Given the description of an element on the screen output the (x, y) to click on. 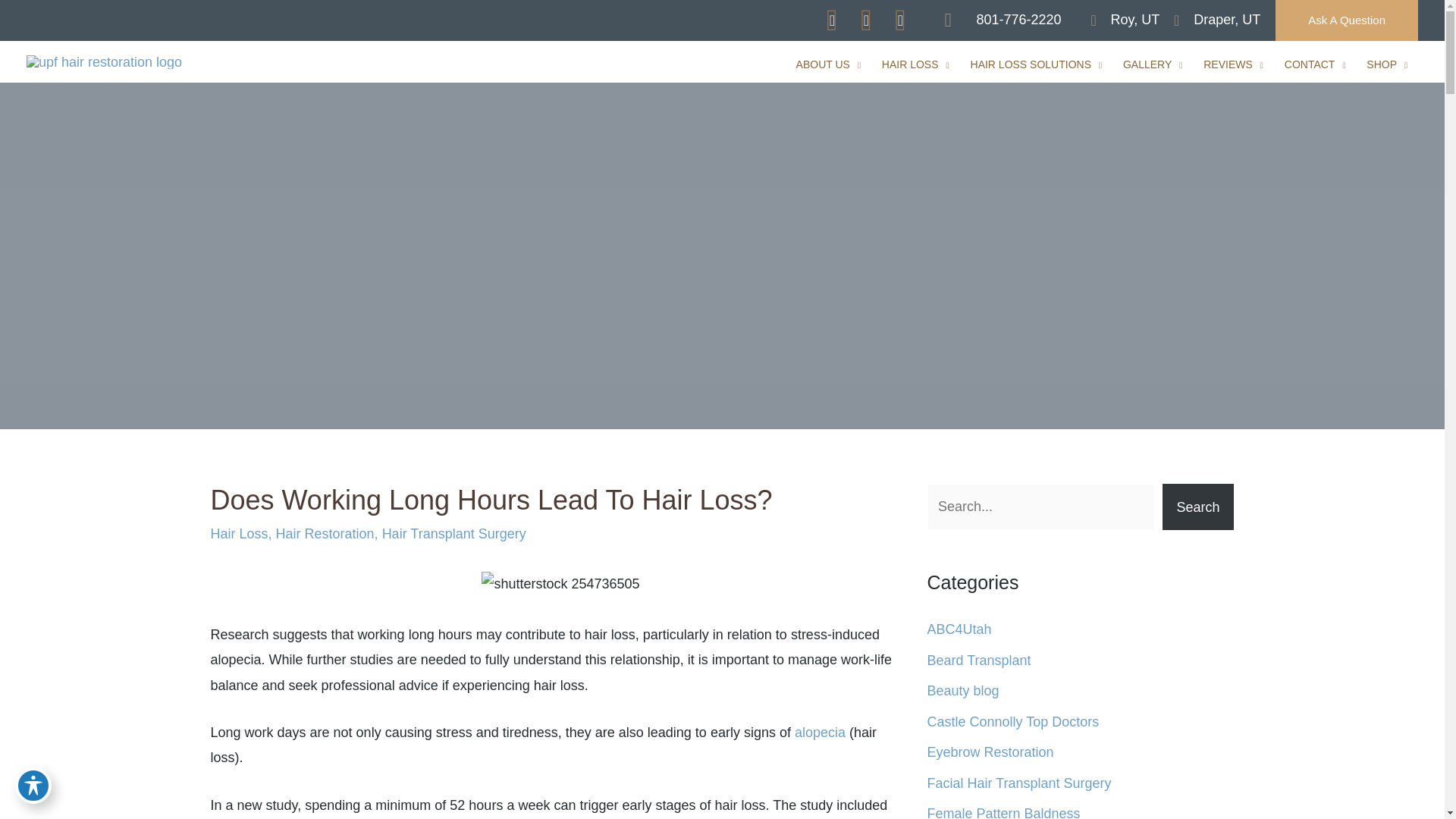
Draper, UT (1209, 20)
Roy, UT (1118, 20)
801-776-2220 (995, 20)
HAIR LOSS SOLUTIONS (1035, 64)
work-hours-hair-loss (561, 584)
Ask A Question (1346, 20)
GALLERY (1152, 64)
HAIR LOSS (914, 64)
REVIEWS (1233, 64)
ABOUT US (828, 64)
